Given the description of an element on the screen output the (x, y) to click on. 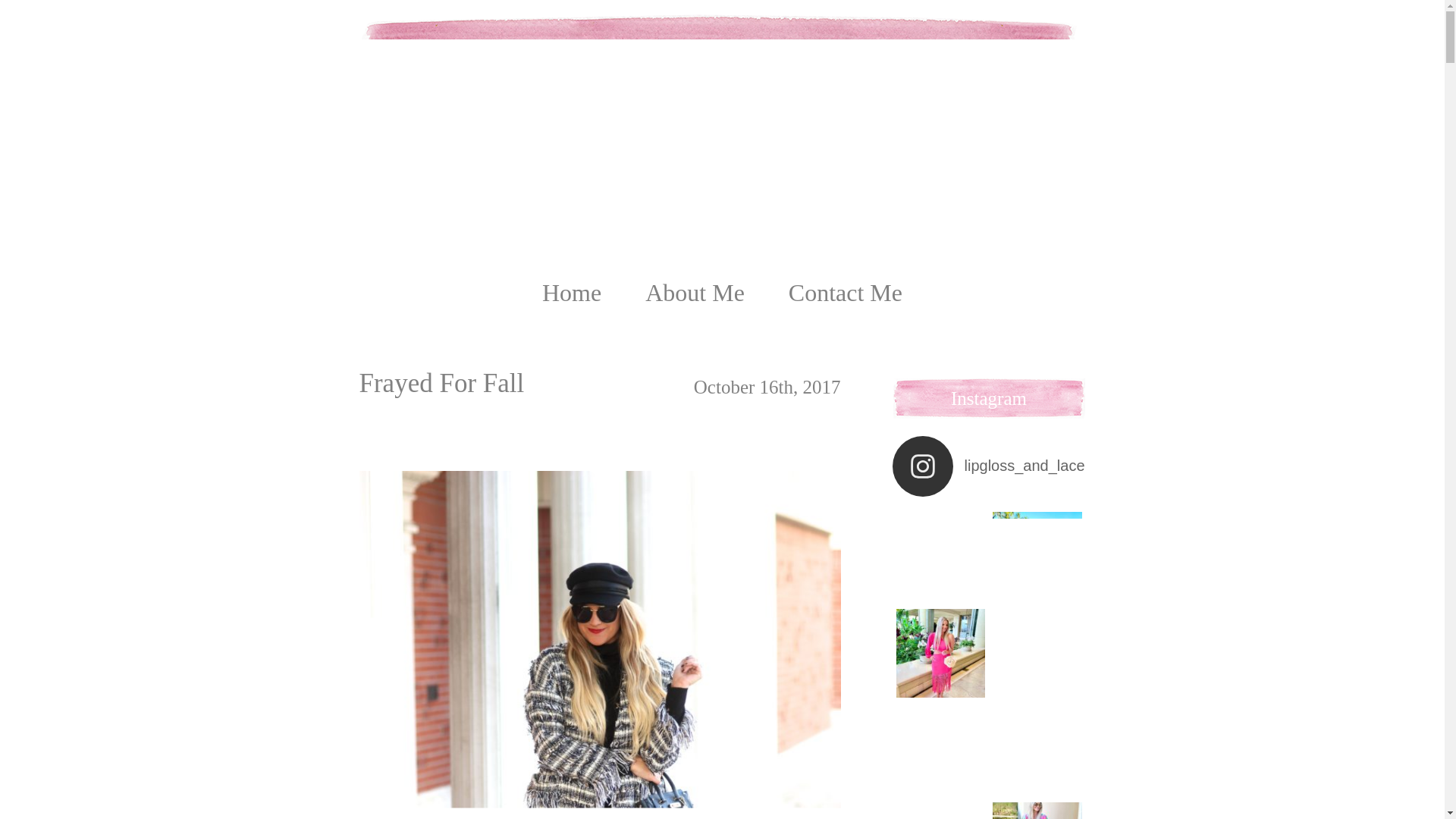
Contact Me (845, 293)
Home (571, 293)
About Me (694, 293)
Lipgloss and Lace (722, 92)
